Given the description of an element on the screen output the (x, y) to click on. 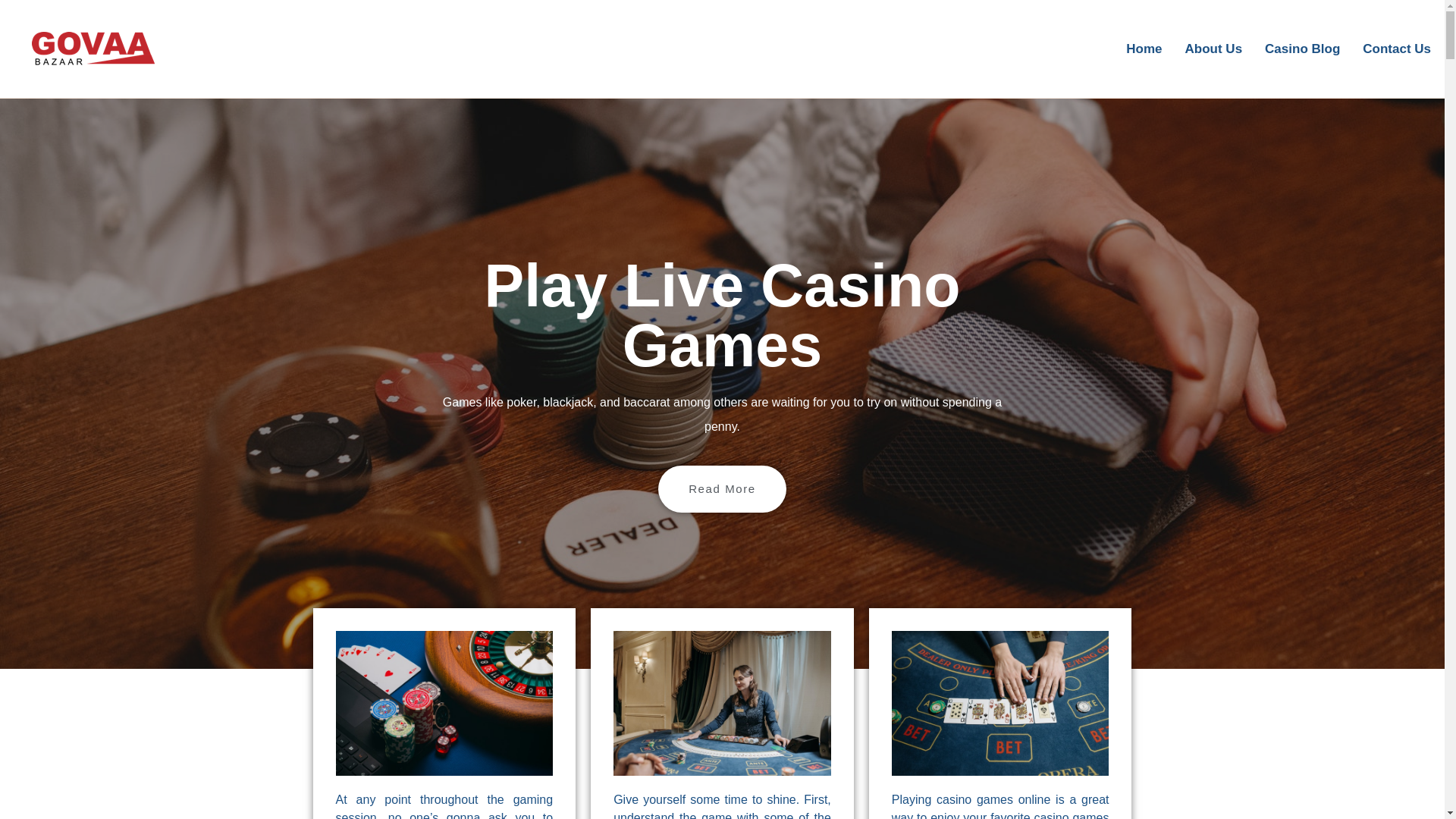
Casino Blog (1302, 48)
Contact Us (1396, 48)
Home (1143, 48)
Read More (722, 489)
About Us (1214, 48)
